Given the description of an element on the screen output the (x, y) to click on. 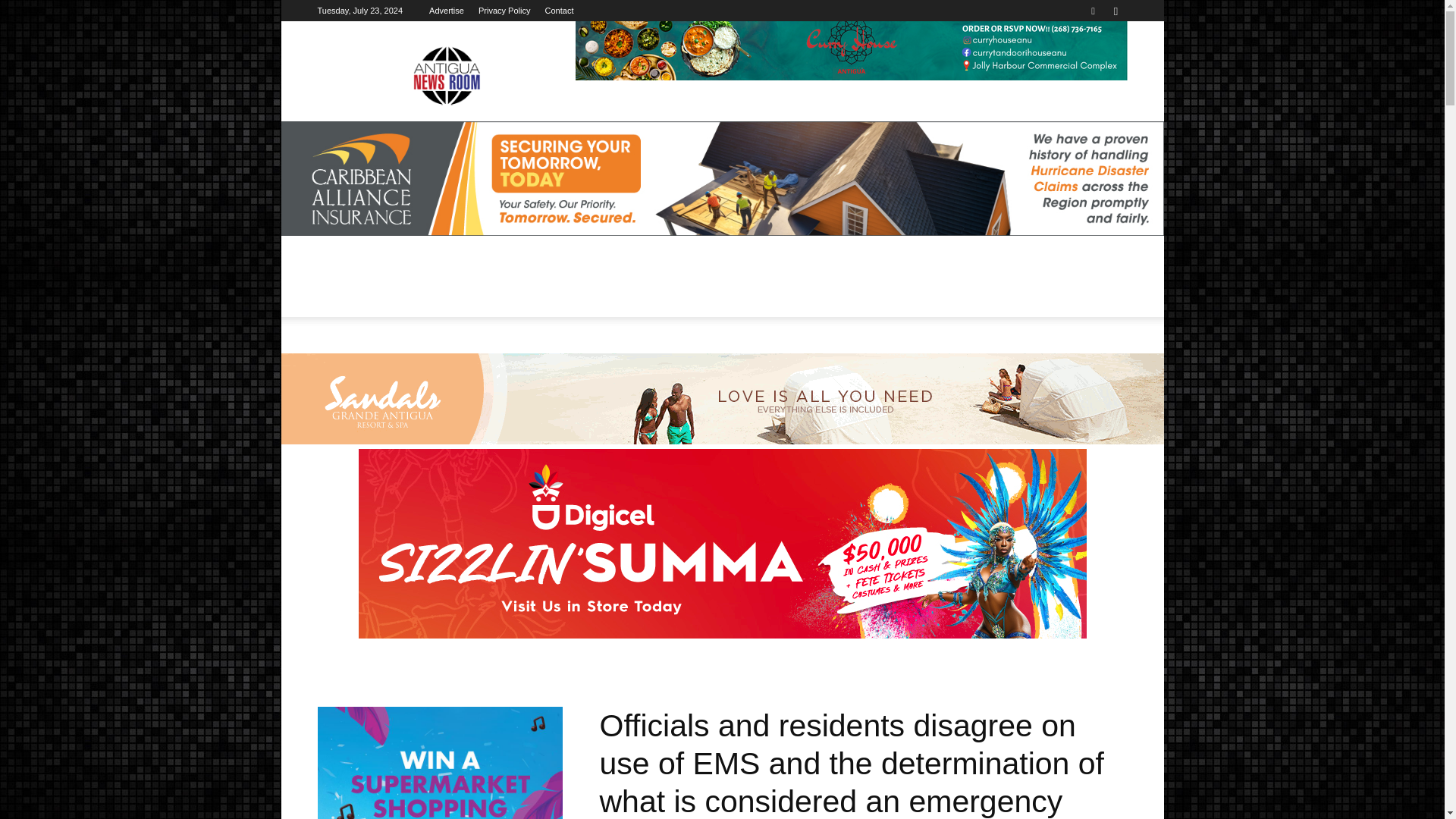
Advertise (446, 10)
LOCAL NEWS (416, 286)
Contact (558, 10)
Privacy Policy (504, 10)
Instagram (1114, 10)
HOME (343, 286)
Search (1085, 64)
